Given the description of an element on the screen output the (x, y) to click on. 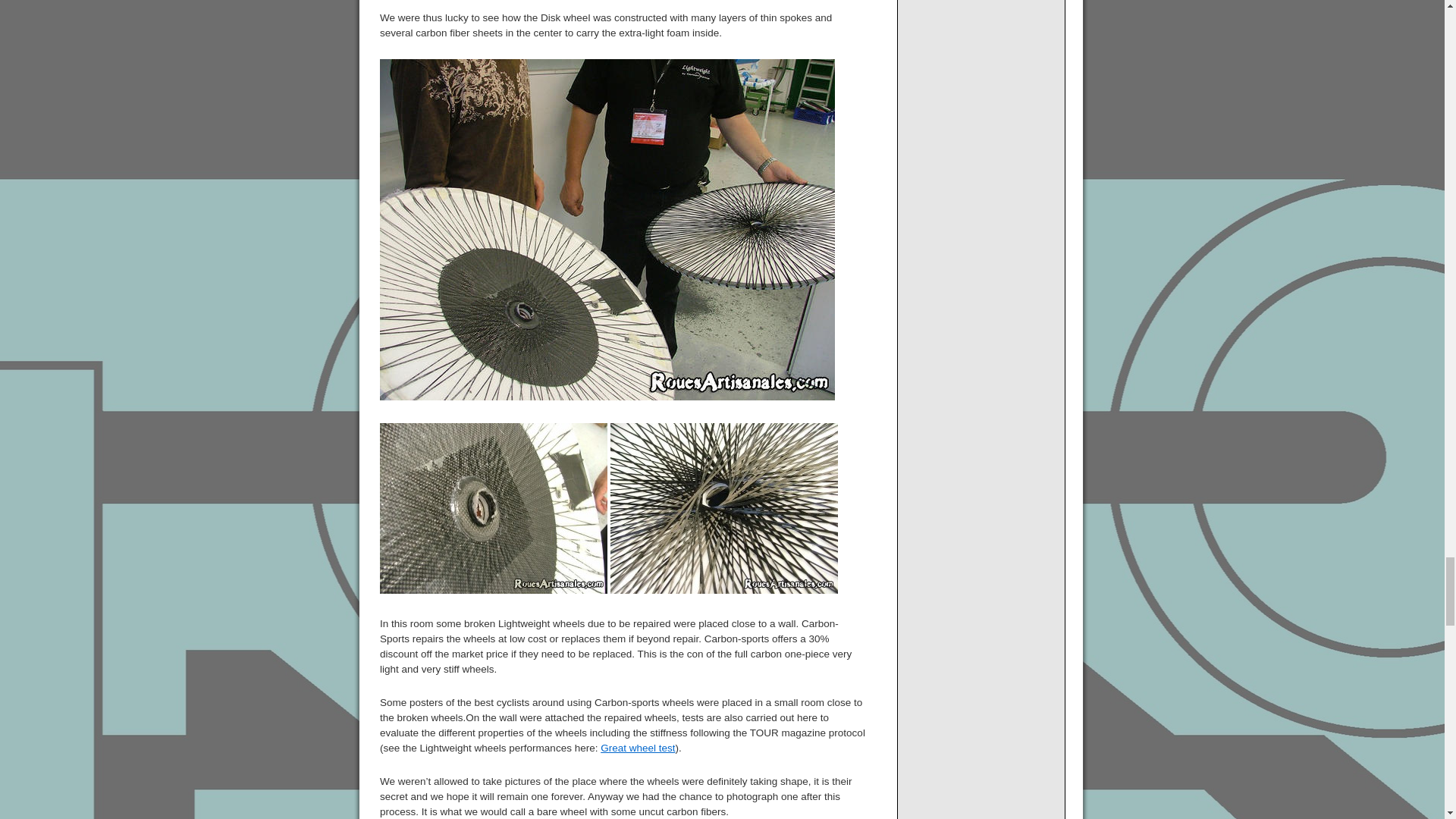
Great wheel test (637, 747)
